Given the description of an element on the screen output the (x, y) to click on. 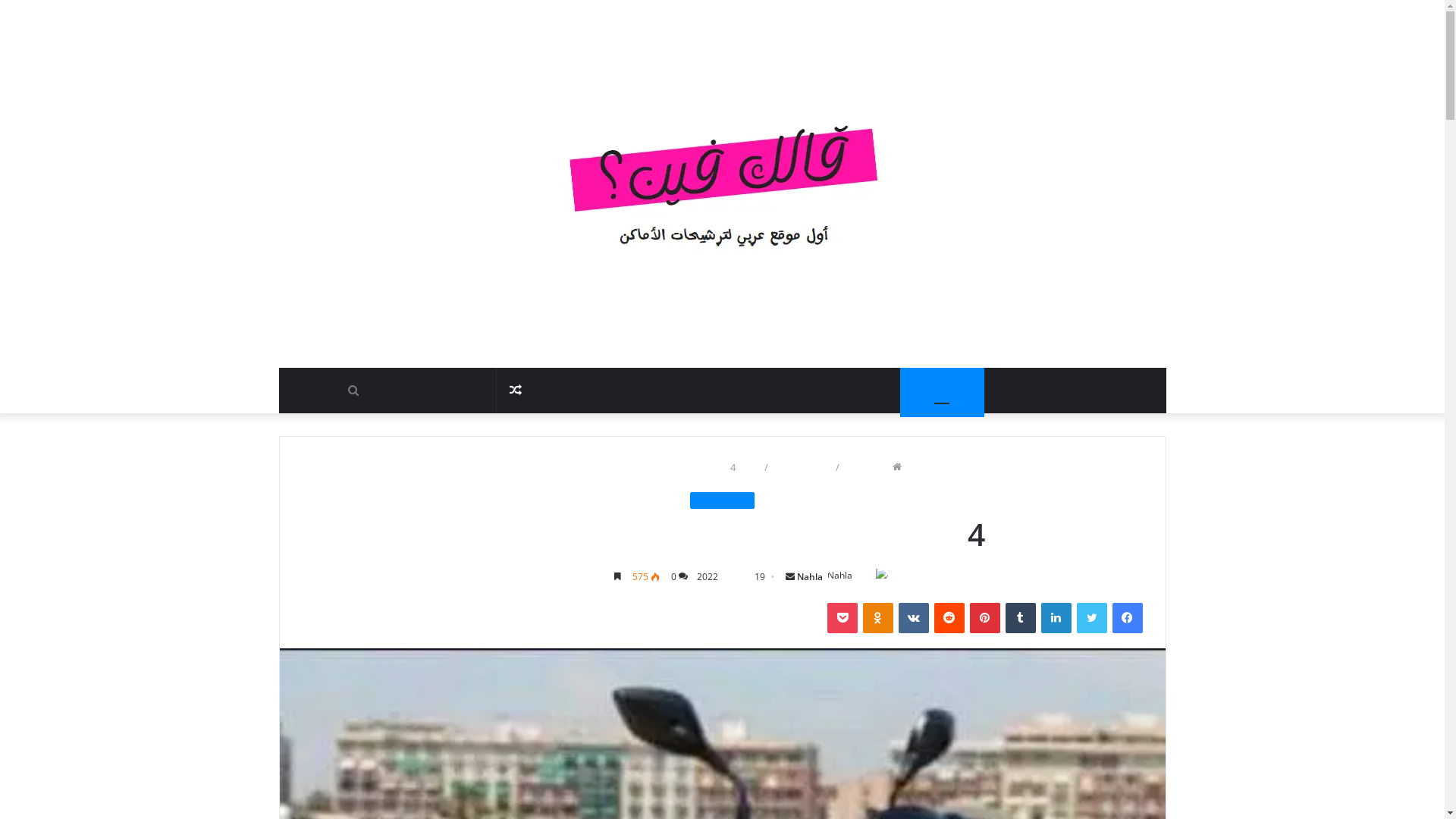
Nahla Element type: text (809, 576)
VKontakte Element type: text (912, 617)
Reddit Element type: text (949, 617)
Odnoklassniki Element type: text (877, 617)
Tumblr Element type: text (1020, 617)
